Given the description of an element on the screen output the (x, y) to click on. 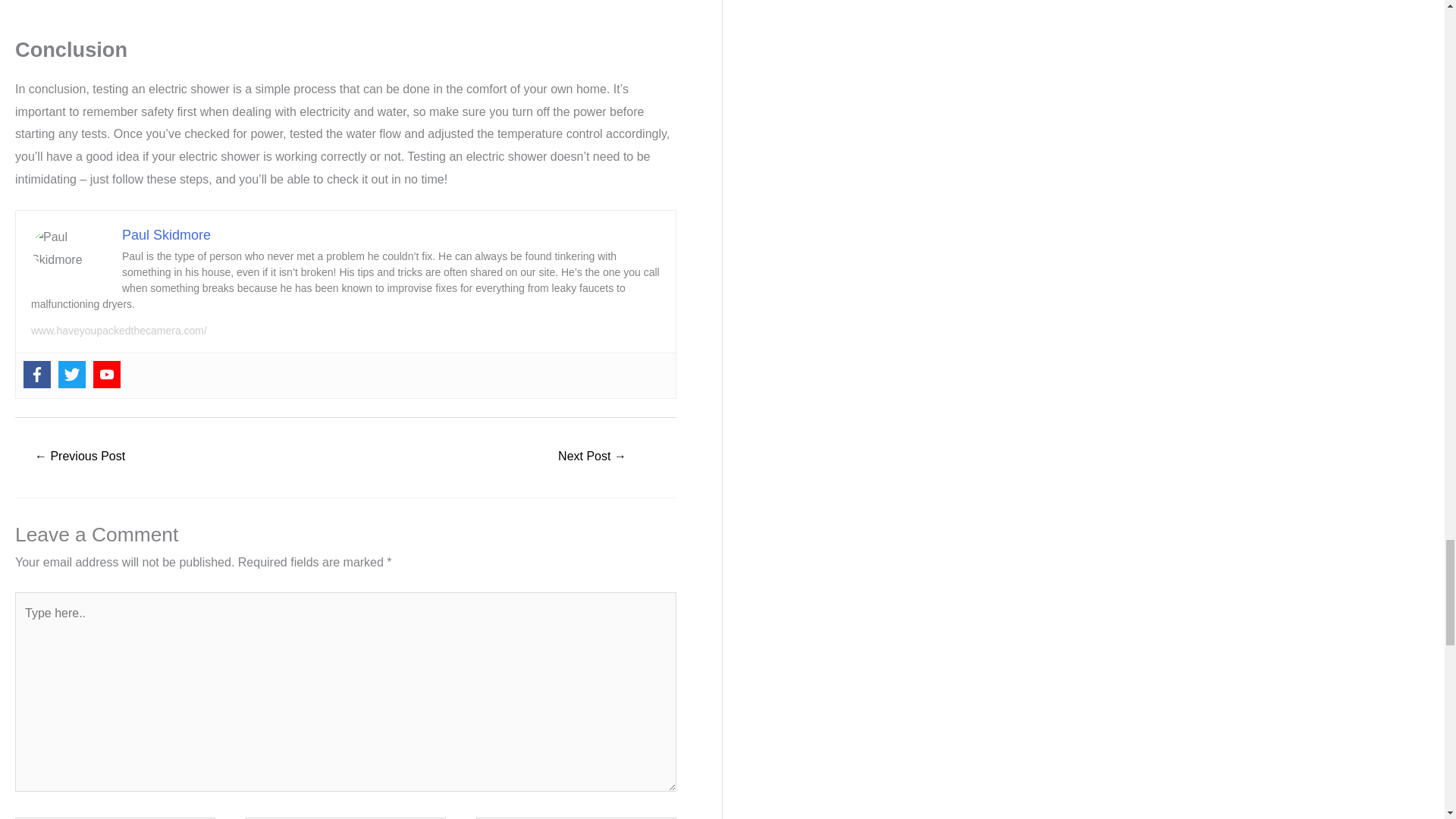
Paul Skidmore (166, 234)
Youtube (106, 374)
Facebook (36, 374)
Twitter (71, 374)
Are Bathroom Heaters Safe? Don't Risk It - Get the Facts! (592, 457)
